Given the description of an element on the screen output the (x, y) to click on. 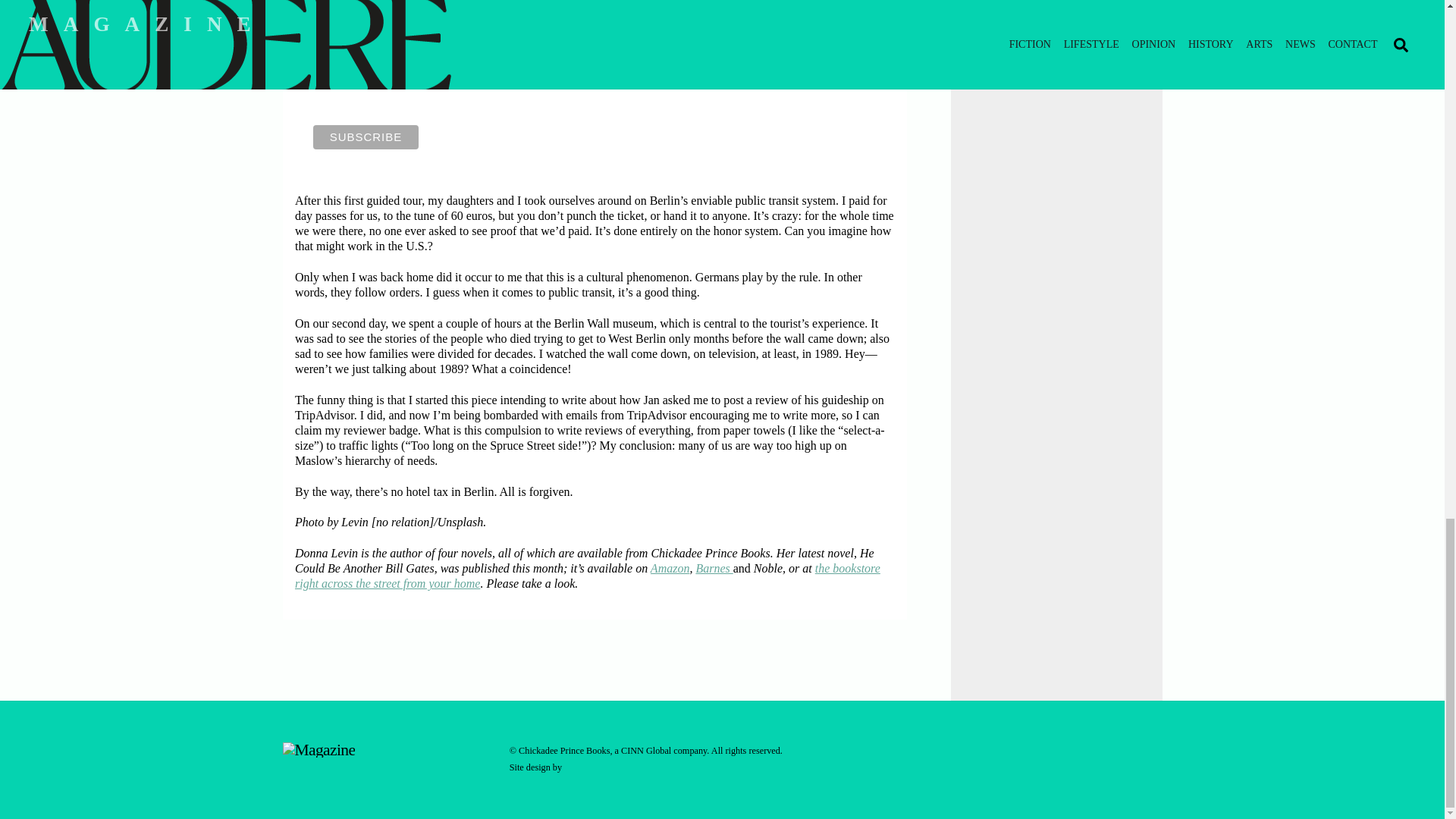
Magazine (318, 750)
Amazon (670, 567)
the bookstore right across the street from your home (587, 575)
Subscribe (366, 137)
Subscribe (366, 137)
Barnes (713, 567)
